Given the description of an element on the screen output the (x, y) to click on. 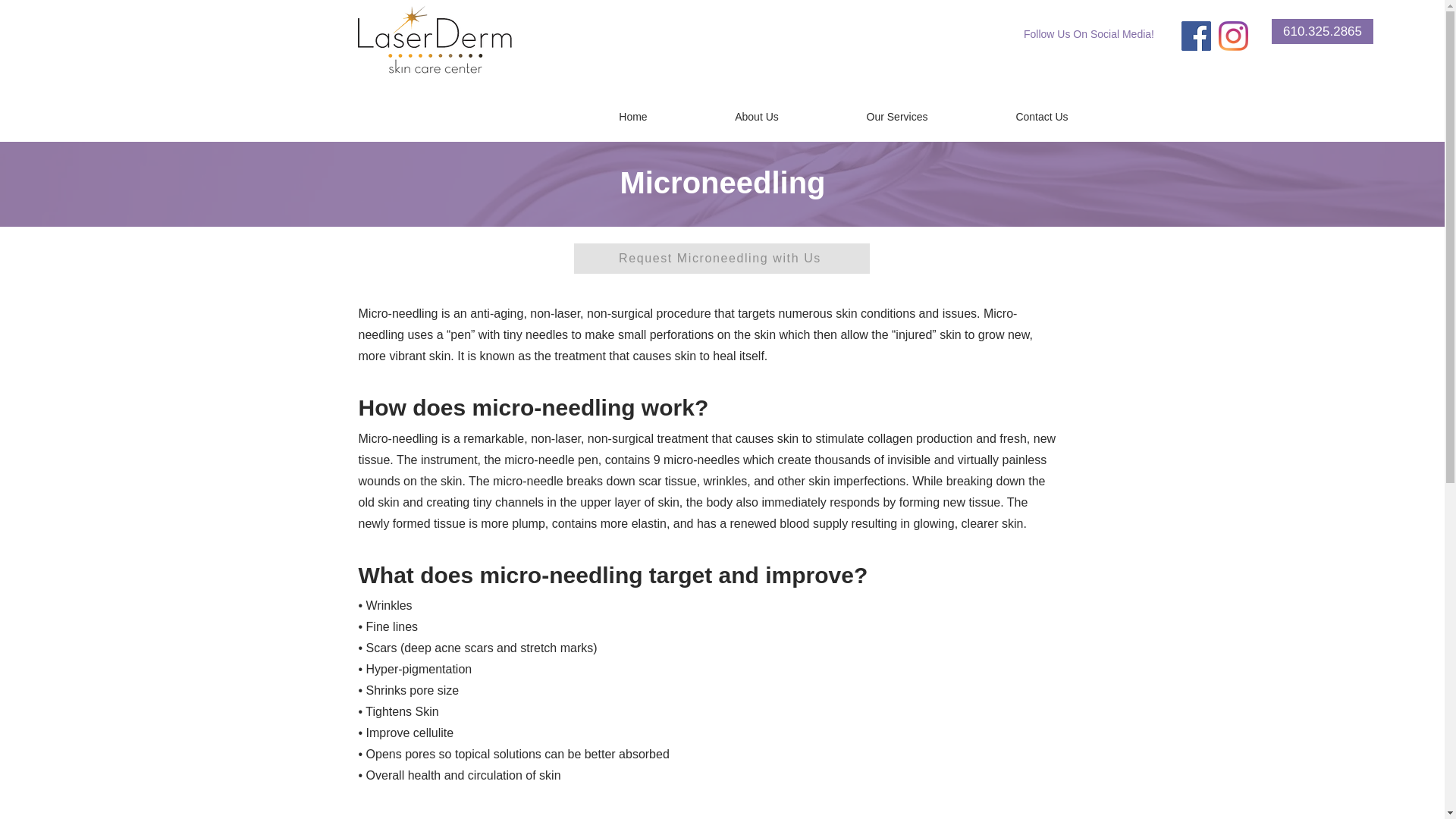
610.325.2865 (1322, 31)
About Us (756, 116)
Contact Us (1042, 116)
Home (632, 116)
Request Microneedling with Us (721, 258)
Our Services (896, 116)
